Given the description of an element on the screen output the (x, y) to click on. 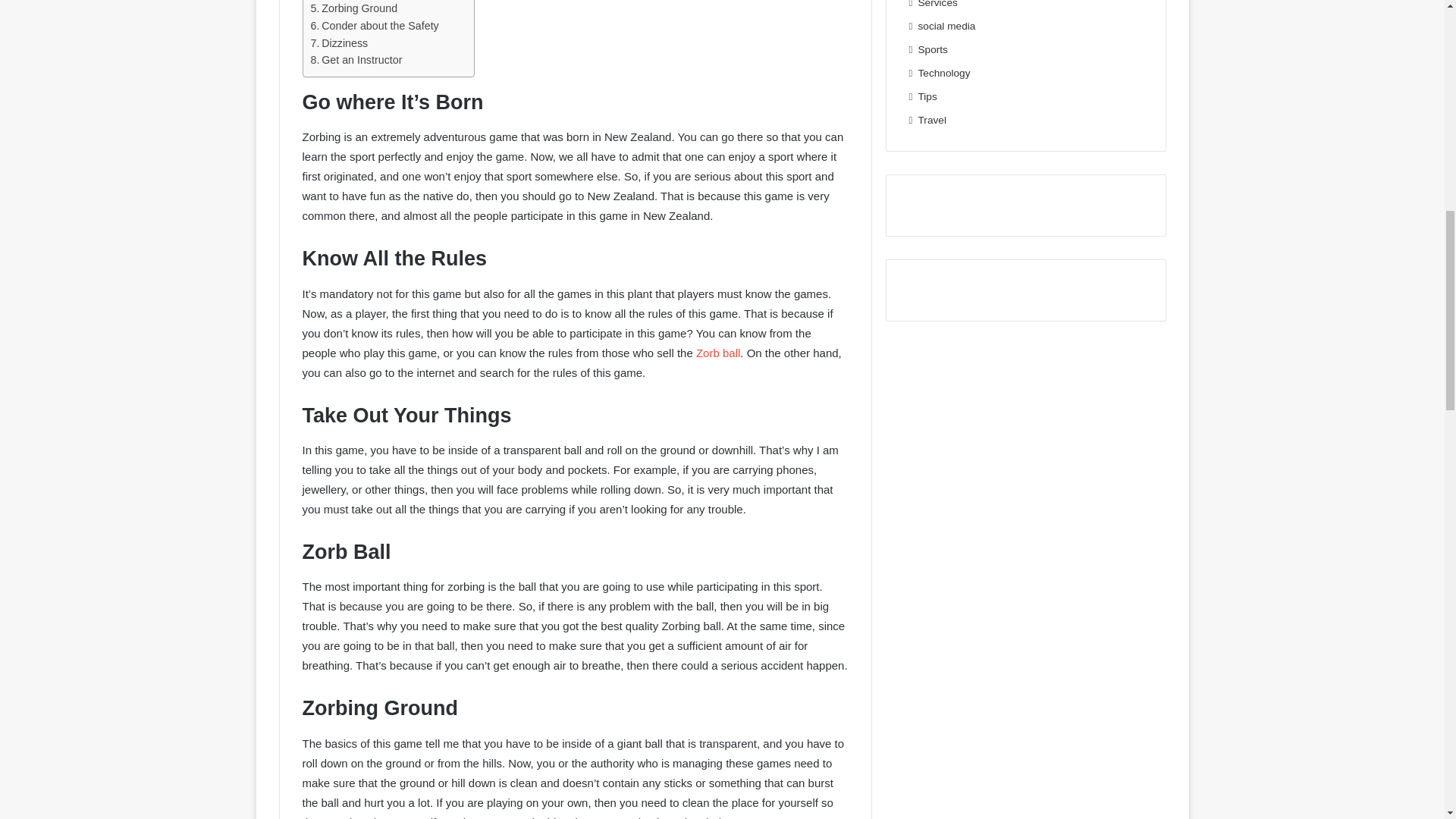
Dizziness (339, 43)
Zorbing Ground (354, 8)
Dizziness (339, 43)
Get an Instructor (357, 59)
Get an Instructor (357, 59)
Conder about the Safety (375, 26)
Conder about the Safety (375, 26)
Zorb ball (717, 352)
Zorbing Ground (354, 8)
